Given the description of an element on the screen output the (x, y) to click on. 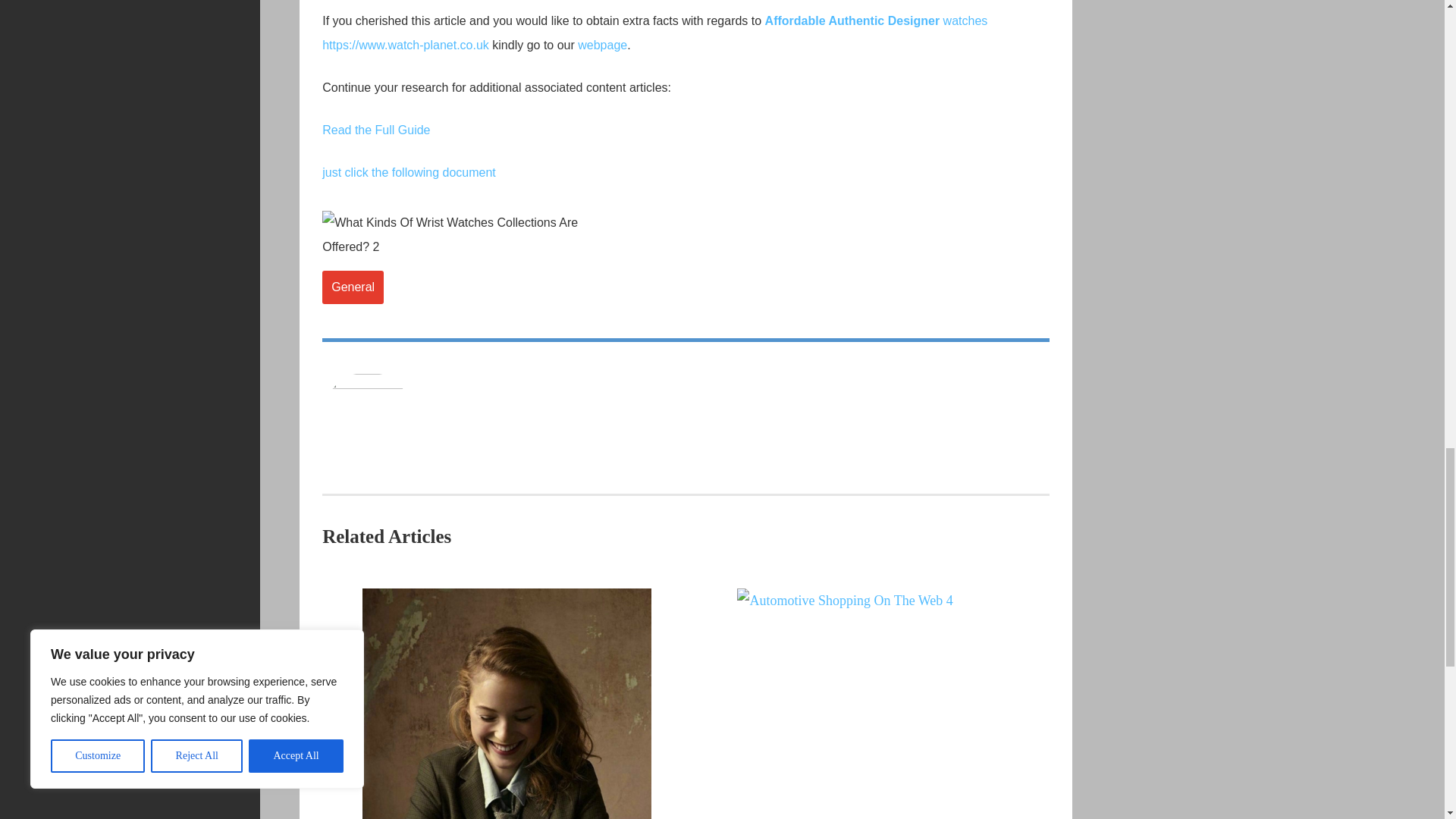
webpage (602, 44)
General (352, 287)
just click the following document (408, 172)
Read the Full Guide (375, 129)
